Given the description of an element on the screen output the (x, y) to click on. 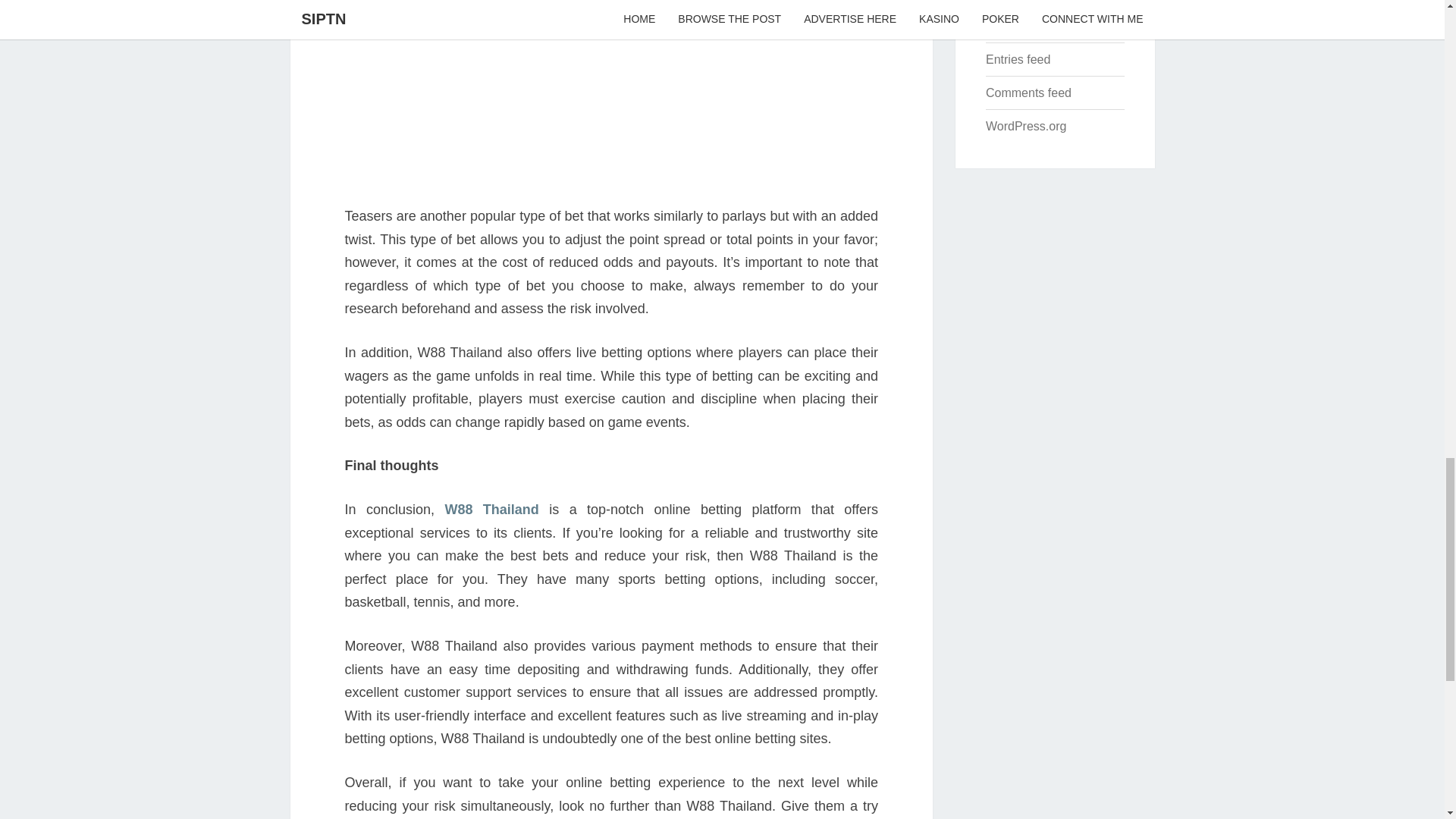
W88 Thailand (491, 509)
Log in (1002, 24)
WordPress.org (1025, 125)
Entries feed (1017, 59)
Comments feed (1028, 92)
